Given the description of an element on the screen output the (x, y) to click on. 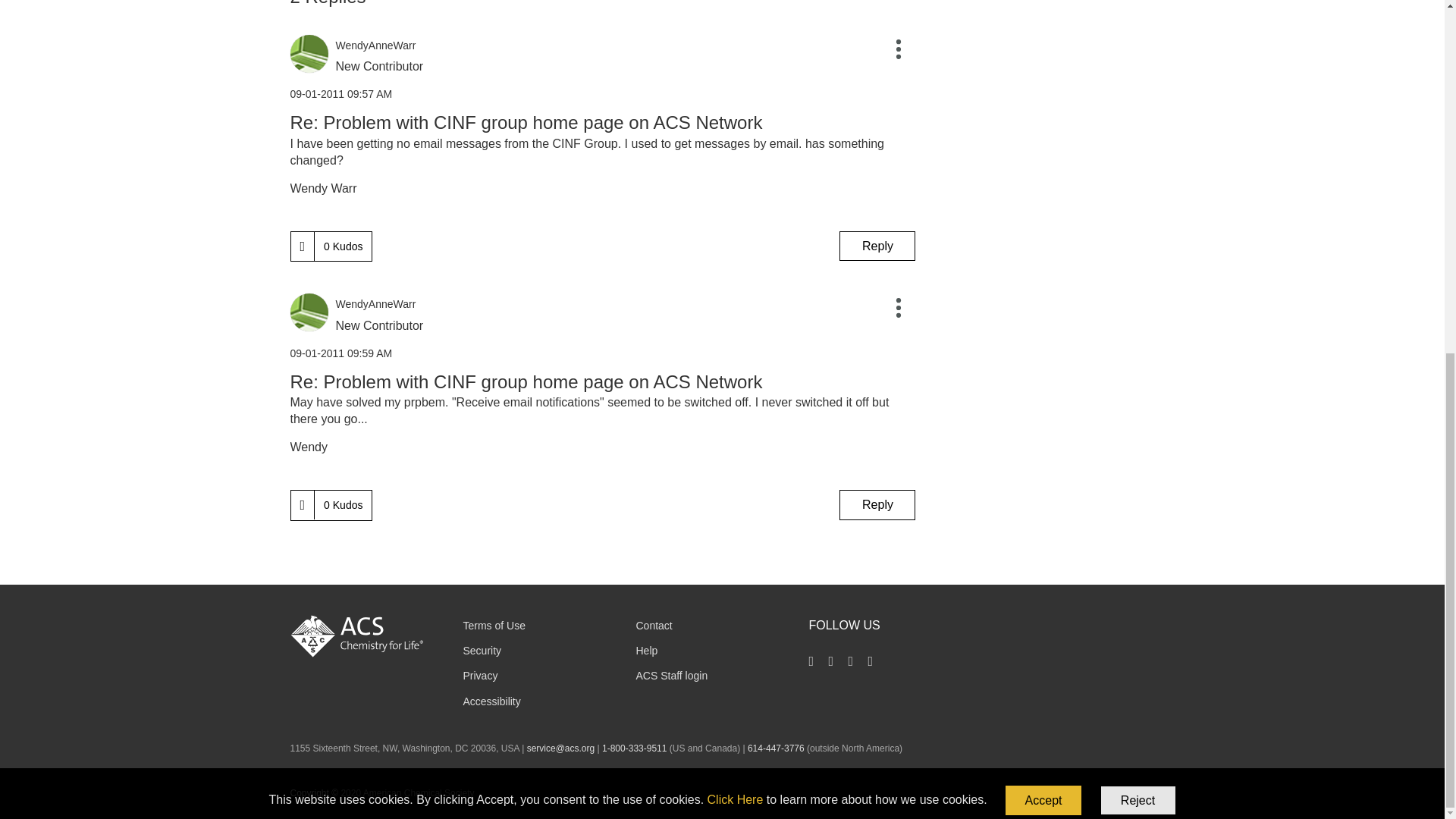
Click Here (734, 181)
Accept (1043, 183)
Reject (1138, 183)
